Given the description of an element on the screen output the (x, y) to click on. 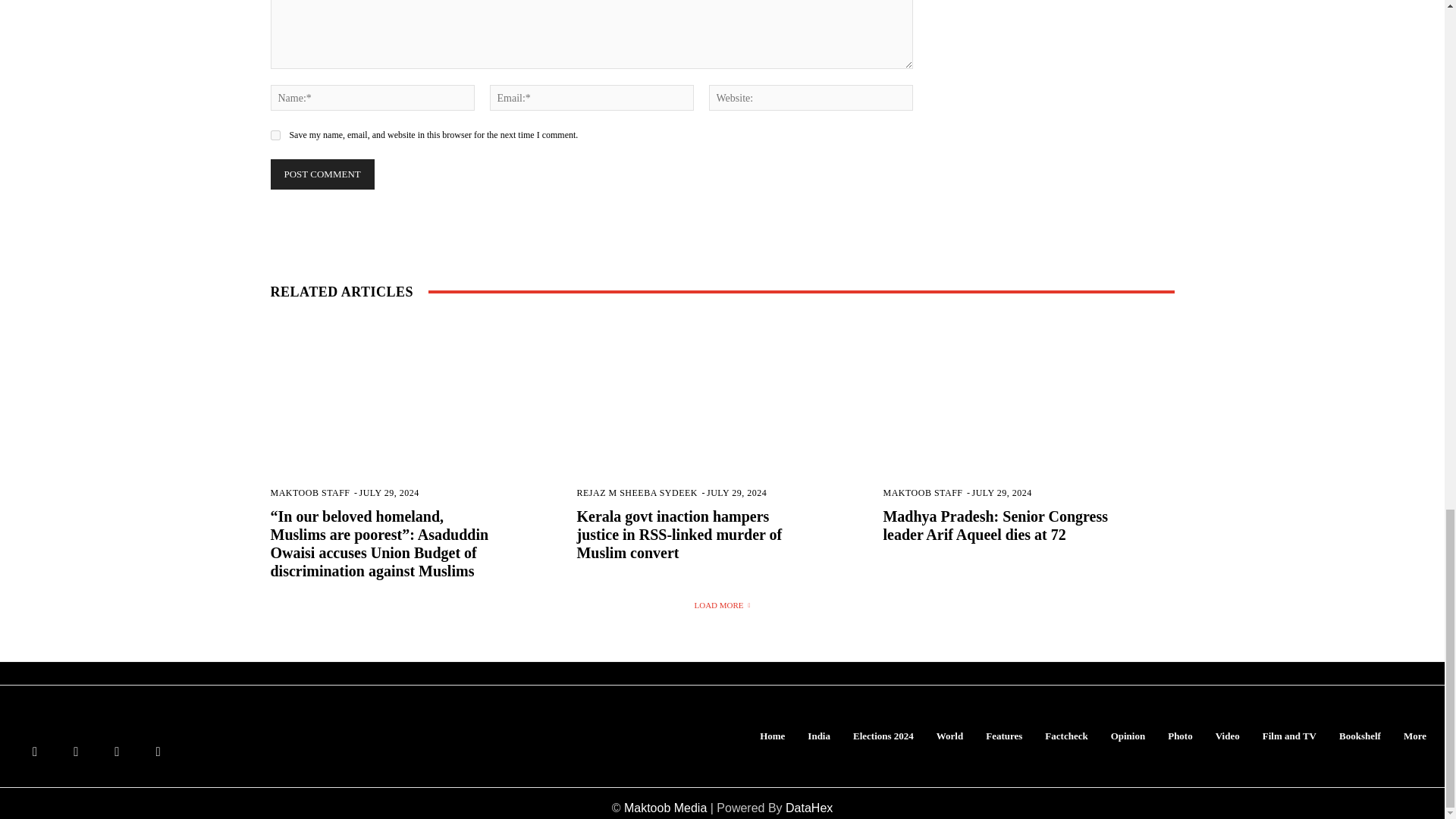
yes (274, 135)
Post Comment (321, 173)
